Given the description of an element on the screen output the (x, y) to click on. 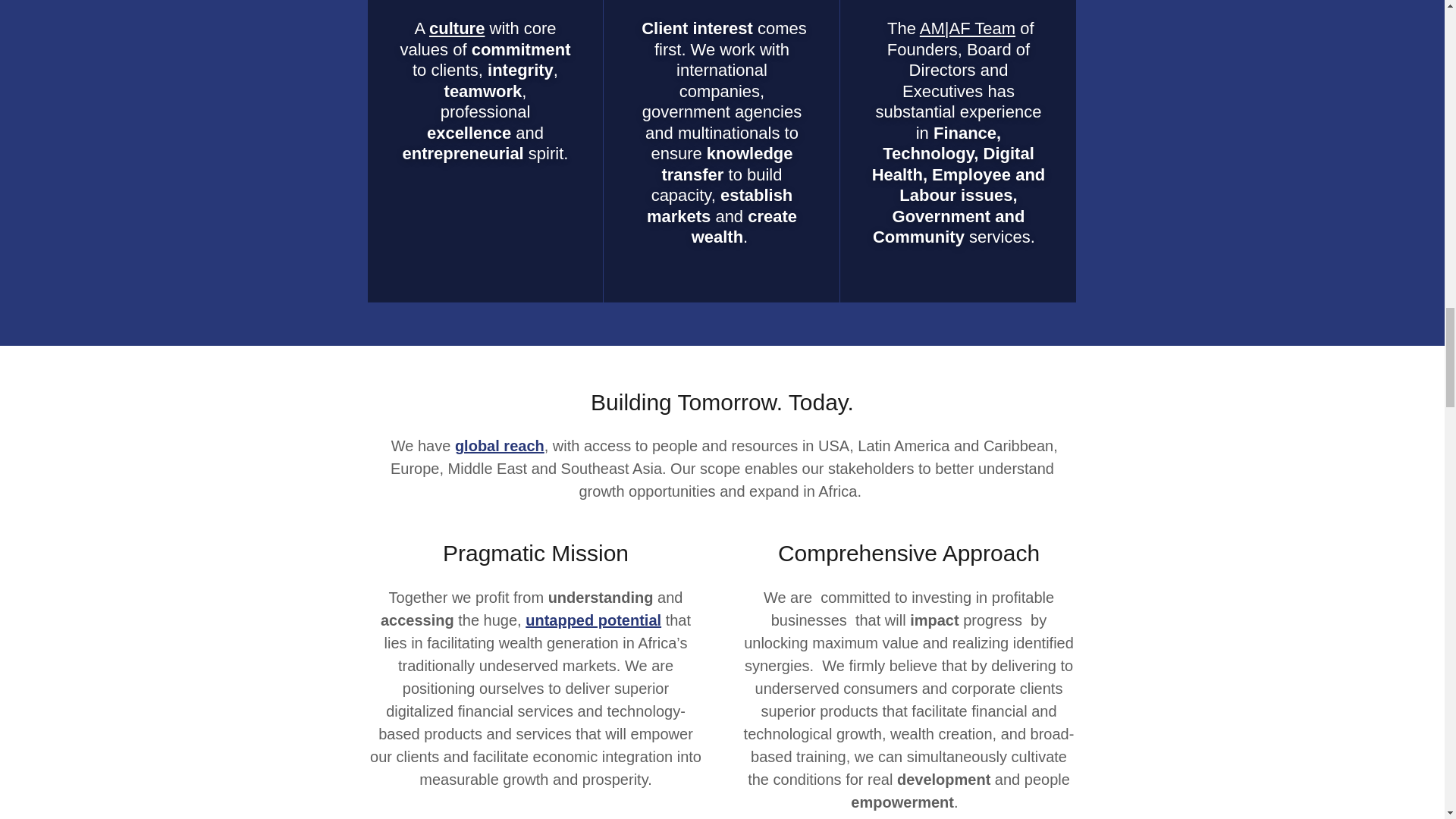
untapped potential (593, 619)
culture (456, 27)
global reach (499, 445)
